Given the description of an element on the screen output the (x, y) to click on. 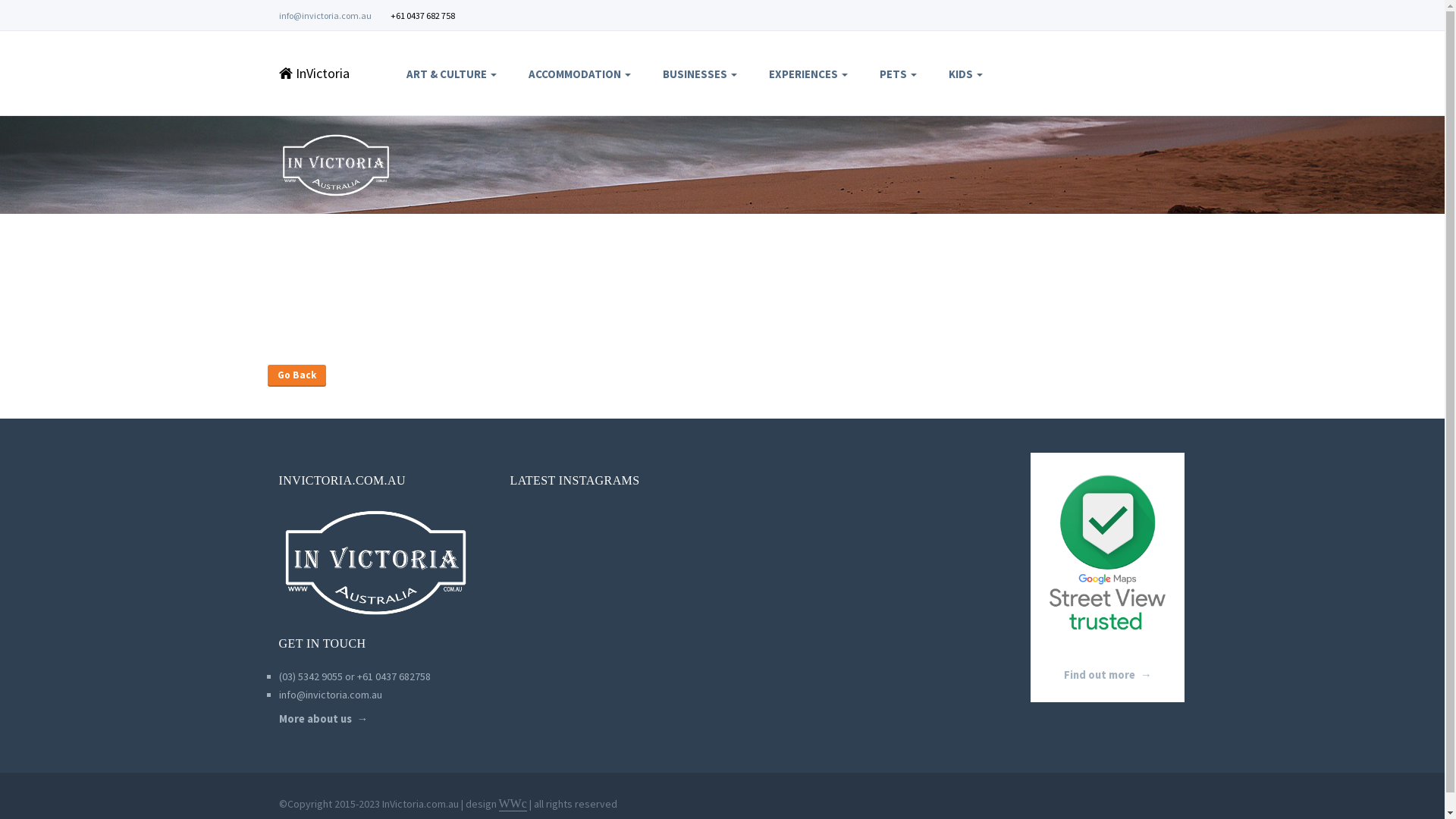
Go Back Element type: text (296, 375)
Find out more Element type: text (1107, 674)
InVictoria Element type: text (323, 72)
EXPERIENCES Element type: text (808, 73)
PETS Element type: text (897, 73)
BUSINESSES Element type: text (699, 73)
ART & CULTURE Element type: text (451, 73)
info@invictoria.com.au Element type: text (325, 15)
info@invictoria.com.au Element type: text (330, 693)
KIDS Element type: text (965, 73)
WWc Element type: text (512, 803)
More about us Element type: text (323, 717)
ACCOMMODATION Element type: text (579, 73)
